Given the description of an element on the screen output the (x, y) to click on. 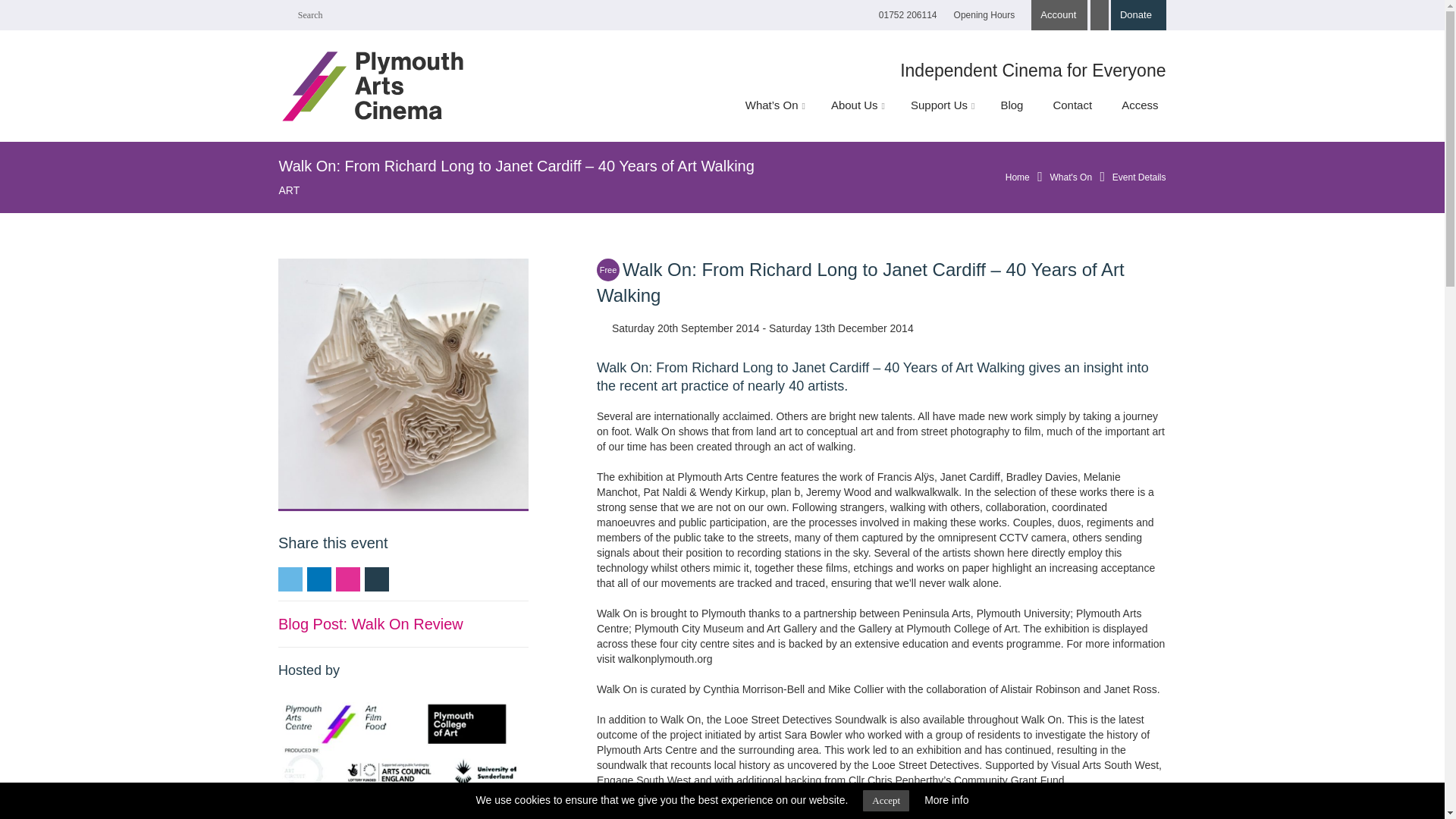
Donate (1138, 15)
My Account (1058, 15)
Copy link (376, 579)
Support Us (940, 105)
About Us (855, 105)
Account (1058, 15)
  Opening Hours   (984, 14)
Basket (1099, 15)
Share this by email (347, 579)
Donate (1138, 15)
search (337, 15)
Share this on Twitter (290, 579)
Share this on Facebook (319, 579)
submit search (284, 15)
